Given the description of an element on the screen output the (x, y) to click on. 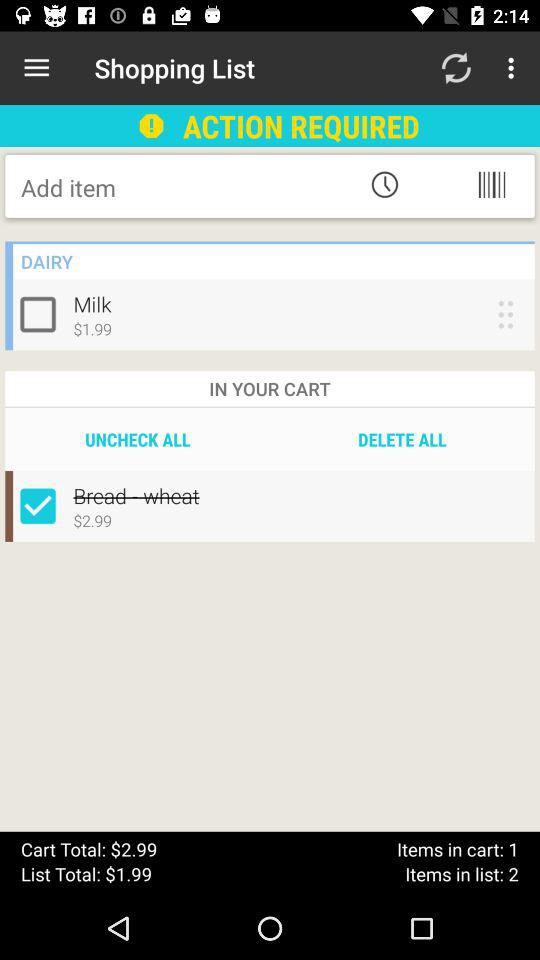
enter time option (384, 184)
